Given the description of an element on the screen output the (x, y) to click on. 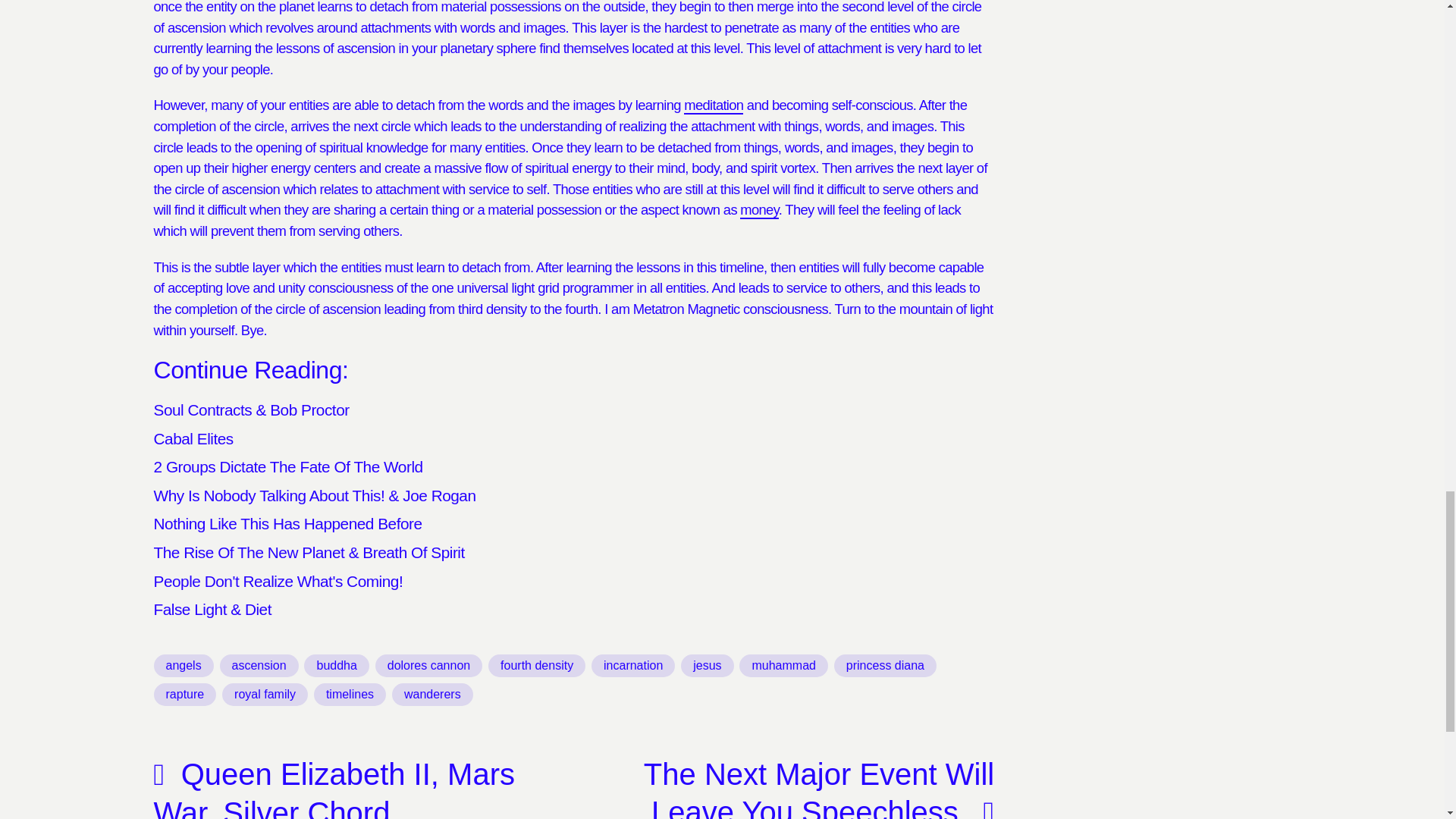
jesus (707, 665)
dolores cannon (428, 665)
meditation (713, 105)
buddha (336, 665)
muhammad (783, 665)
People Don't Realize What's Coming! (277, 580)
money (758, 210)
2 Groups Dictate The Fate Of The World (287, 466)
Cabal Elites  (192, 438)
Nothing Like This Has Happened Before (287, 523)
